Given the description of an element on the screen output the (x, y) to click on. 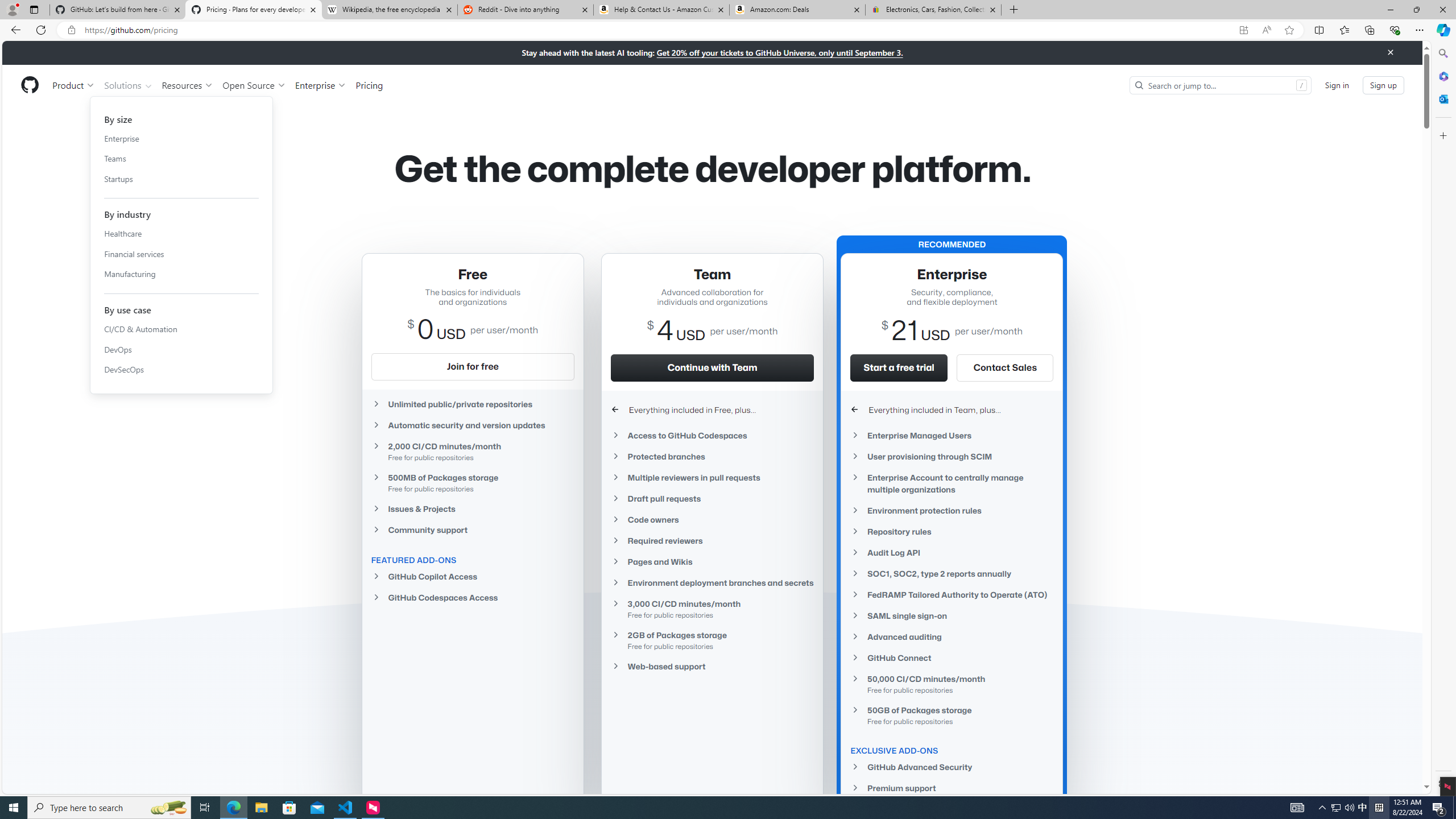
Everything included in Team, plus... (952, 409)
Join for free (473, 366)
Issues & Projects (473, 508)
Automatic security and version updates (473, 425)
FedRAMP Tailored Authority to Operate (ATO) (952, 594)
Teams (181, 158)
Manufacturing (181, 274)
Code owners (711, 519)
Repository rules (952, 531)
